Given the description of an element on the screen output the (x, y) to click on. 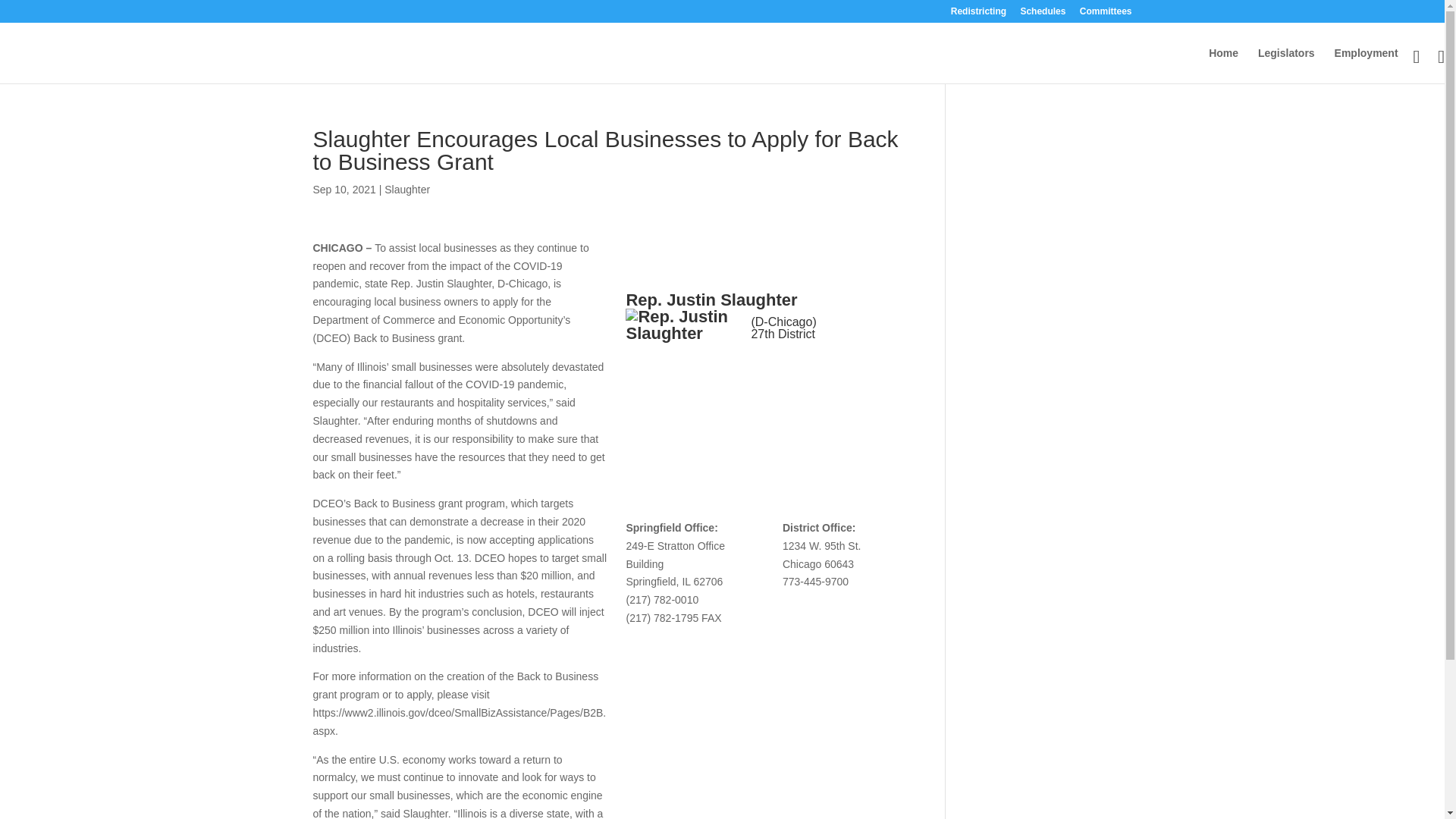
Employment (1366, 65)
Slaughter (406, 189)
Redistricting (978, 14)
Follow on Facebook (762, 369)
Committees (1106, 14)
Legislators (1285, 65)
Schedules (1042, 14)
